Given the description of an element on the screen output the (x, y) to click on. 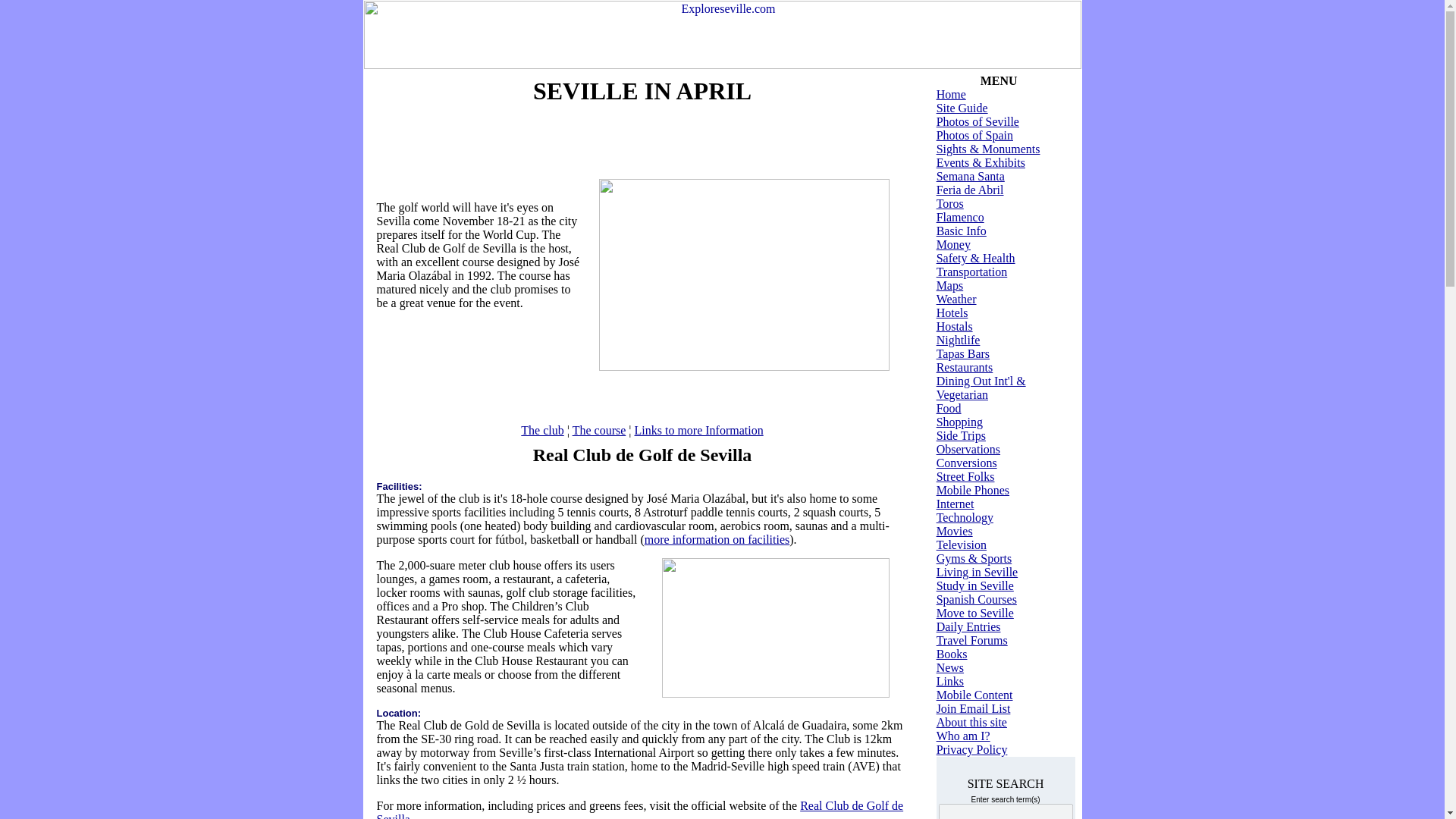
Photos of Seville (977, 121)
Tapas Bars (963, 353)
Flamenco (960, 216)
The course (599, 430)
Hotels (952, 312)
Semana Santa (970, 175)
more information on facilities (717, 539)
Money (953, 244)
The club (542, 430)
Toros (949, 203)
Photos of Spain (974, 134)
Side Trips (960, 435)
Links to more Information (697, 430)
Food (948, 408)
Nightlife (957, 339)
